Given the description of an element on the screen output the (x, y) to click on. 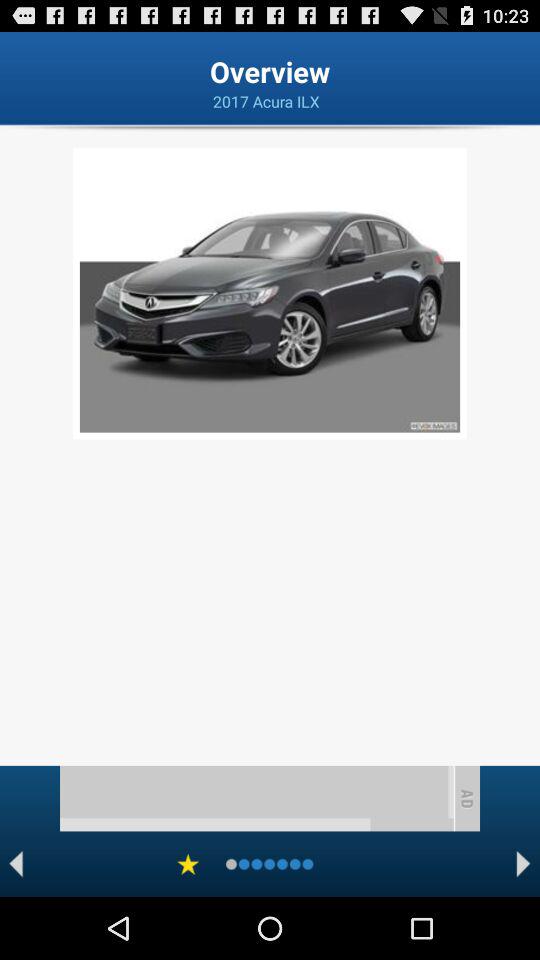
open advertisement link (256, 798)
